Given the description of an element on the screen output the (x, y) to click on. 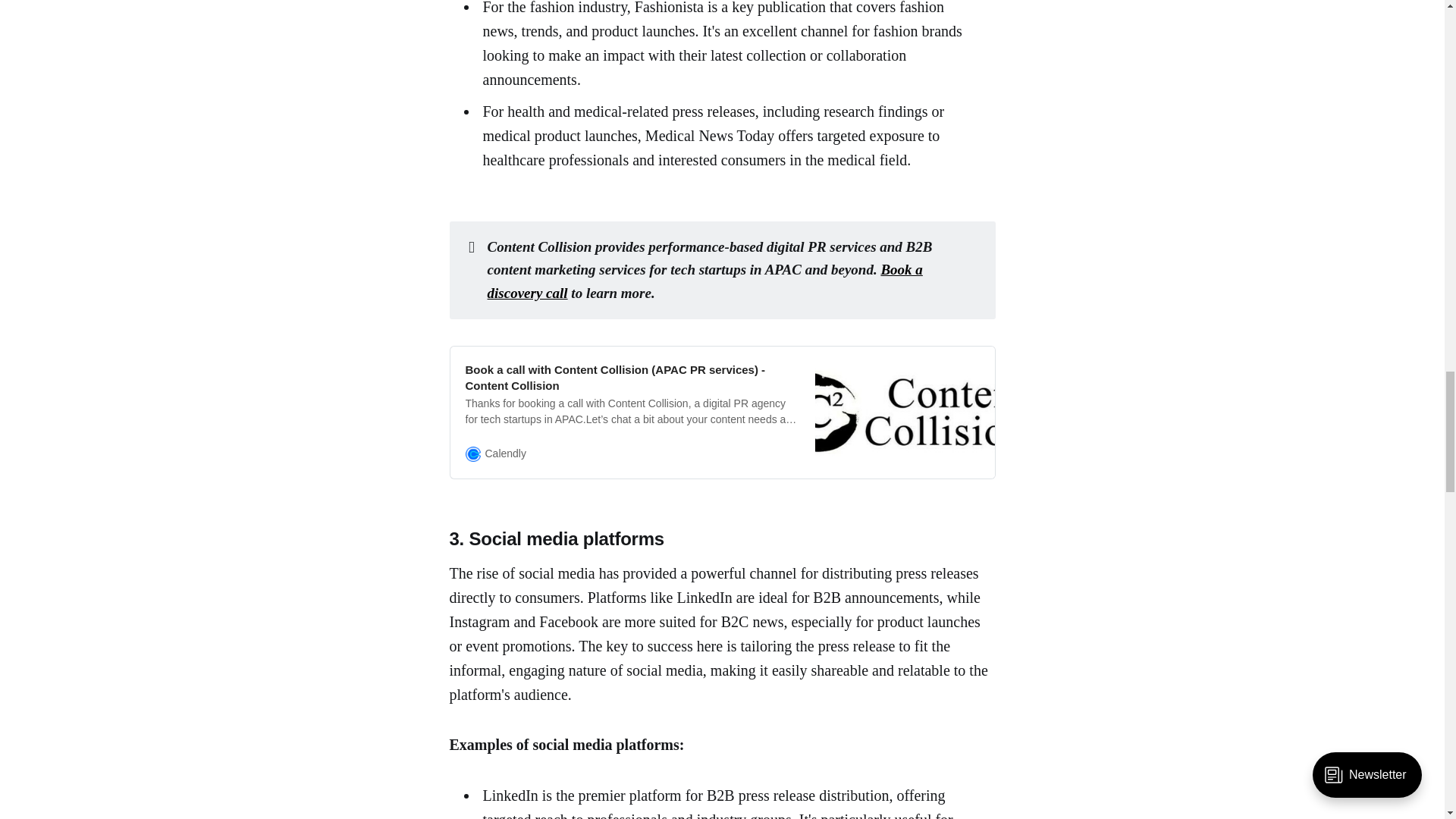
Book a discovery call (705, 280)
